Given the description of an element on the screen output the (x, y) to click on. 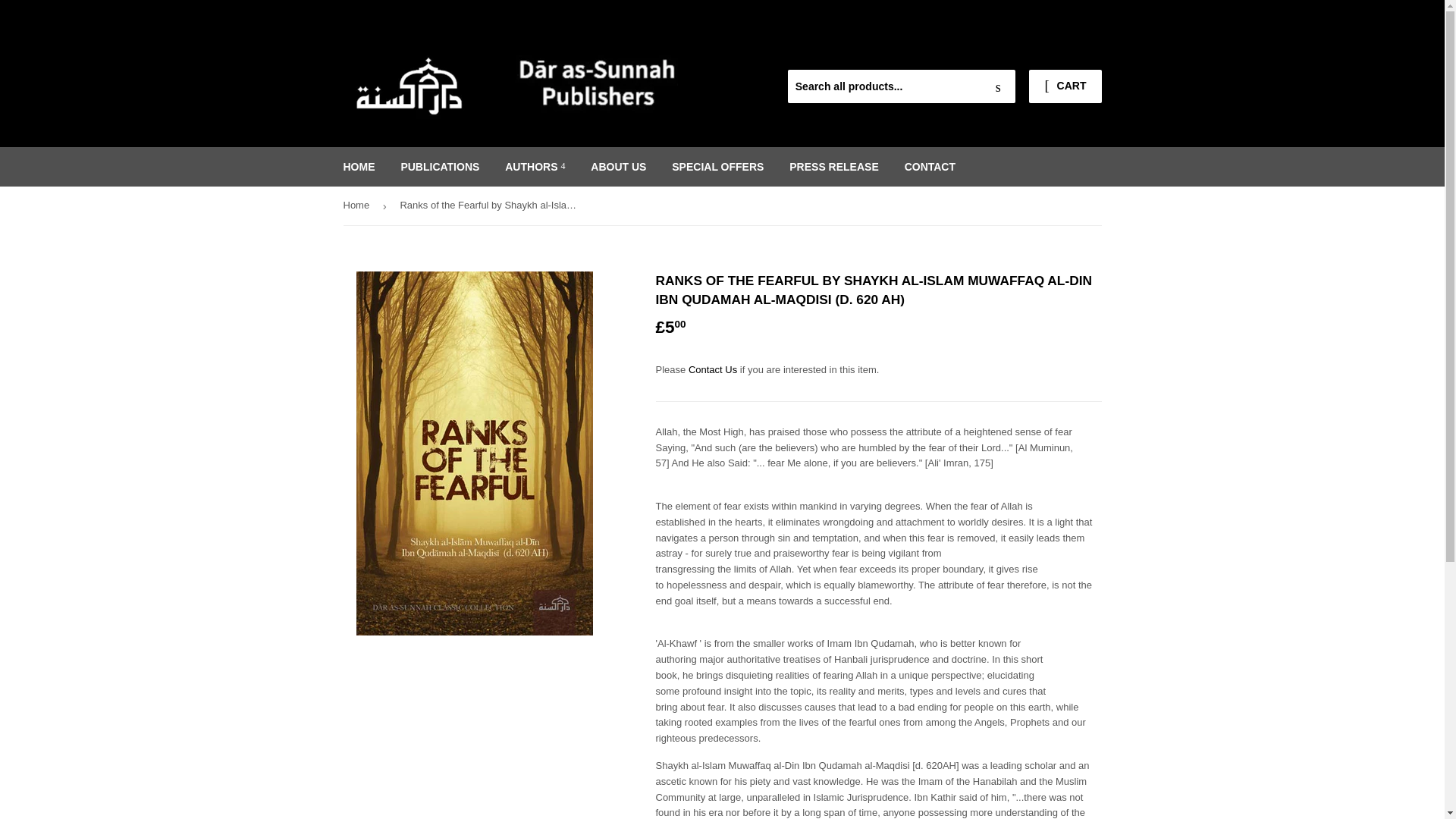
Search (997, 87)
ABOUT US (618, 166)
Back to the frontpage (358, 205)
CART (1064, 86)
Sign in (993, 51)
PRESS RELEASE (833, 166)
Create an Account (1063, 51)
CONTACT (929, 166)
AUTHORS (534, 166)
Home (358, 205)
HOME (359, 166)
Contact Us (712, 369)
SPECIAL OFFERS (717, 166)
PUBLICATIONS (439, 166)
